Given the description of an element on the screen output the (x, y) to click on. 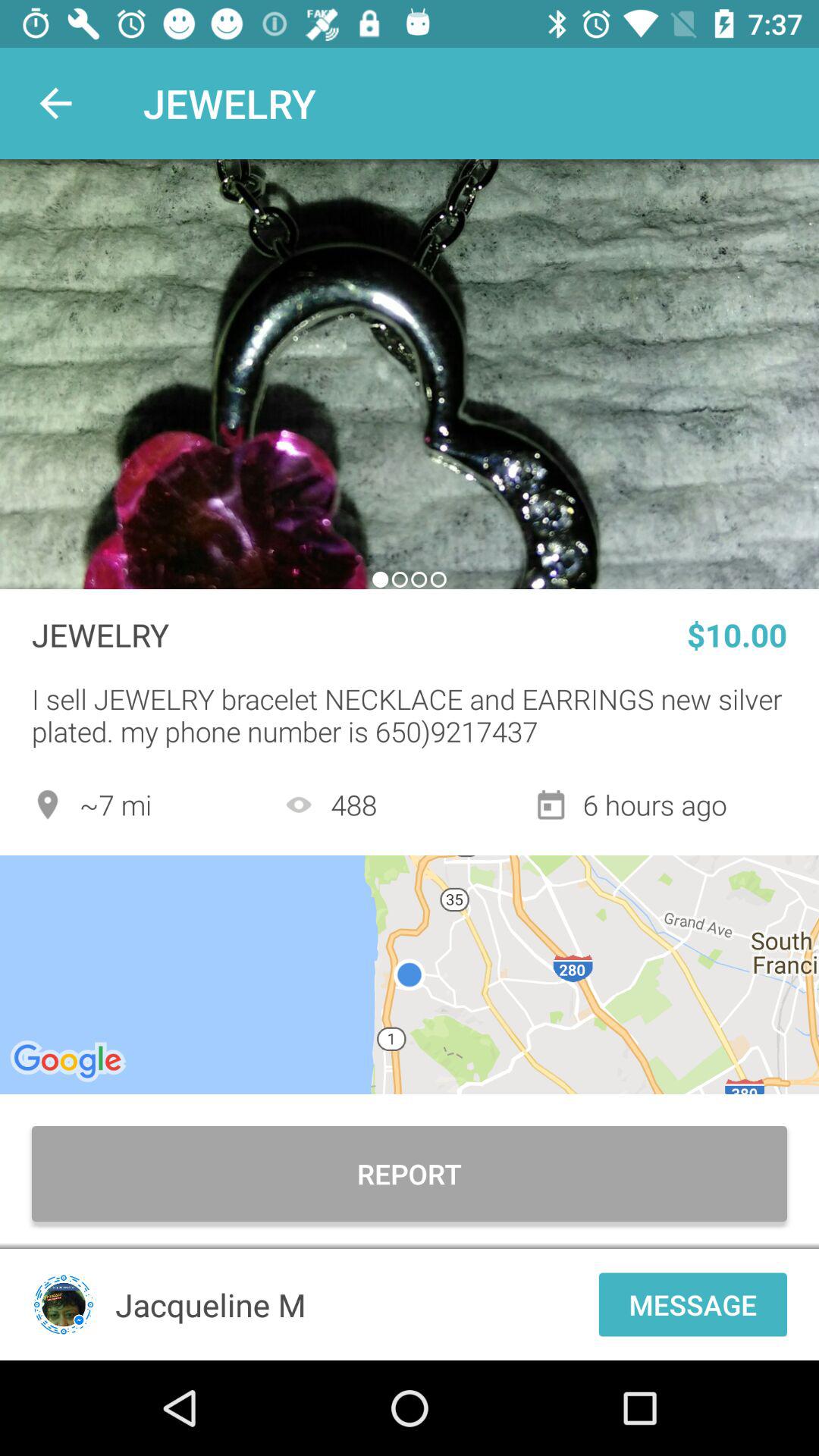
profile picture (63, 1304)
